Given the description of an element on the screen output the (x, y) to click on. 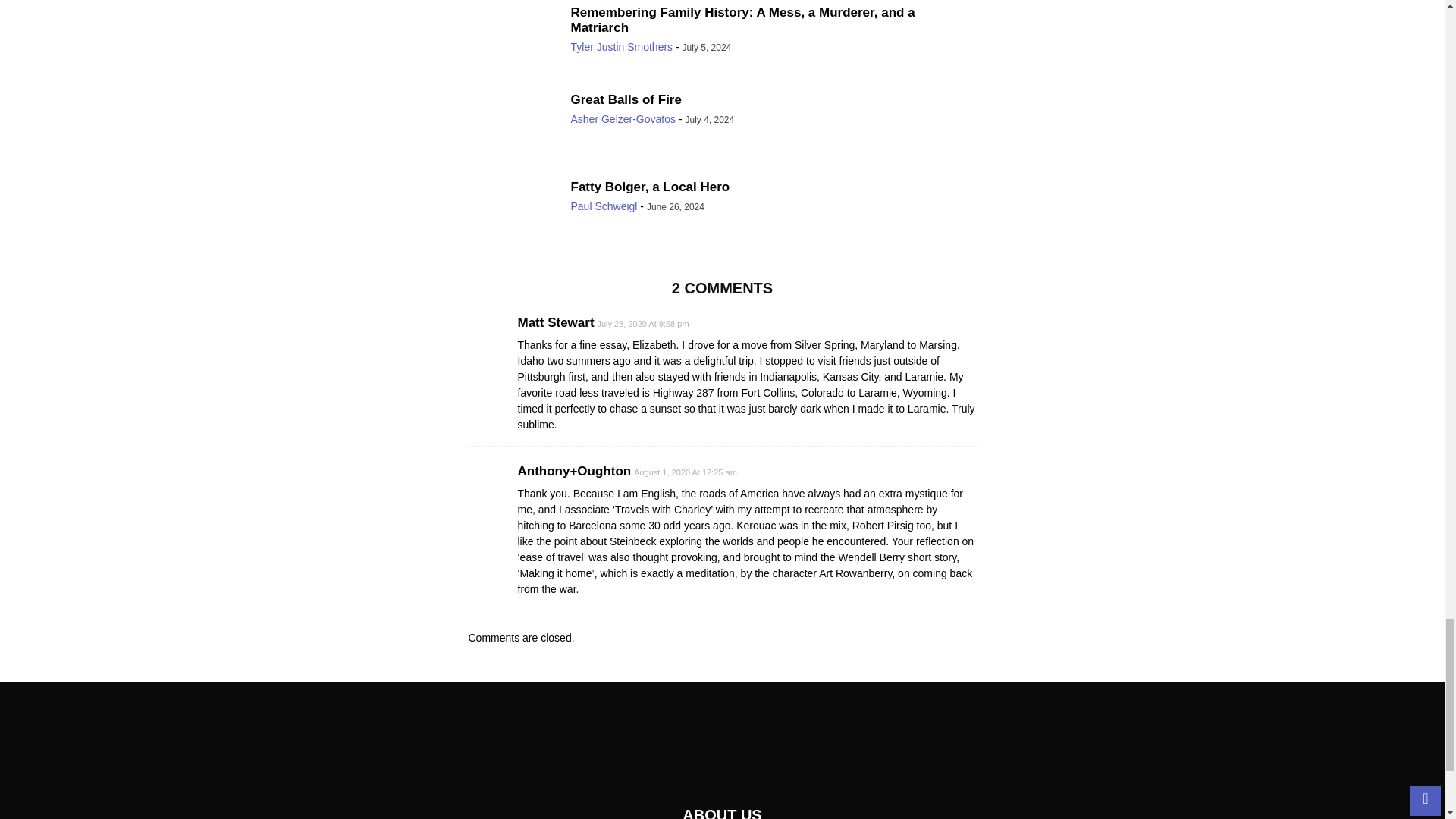
Tyler Justin Smothers (621, 46)
Asher Gelzer-Govatos (622, 119)
Great Balls of Fire (625, 99)
